Given the description of an element on the screen output the (x, y) to click on. 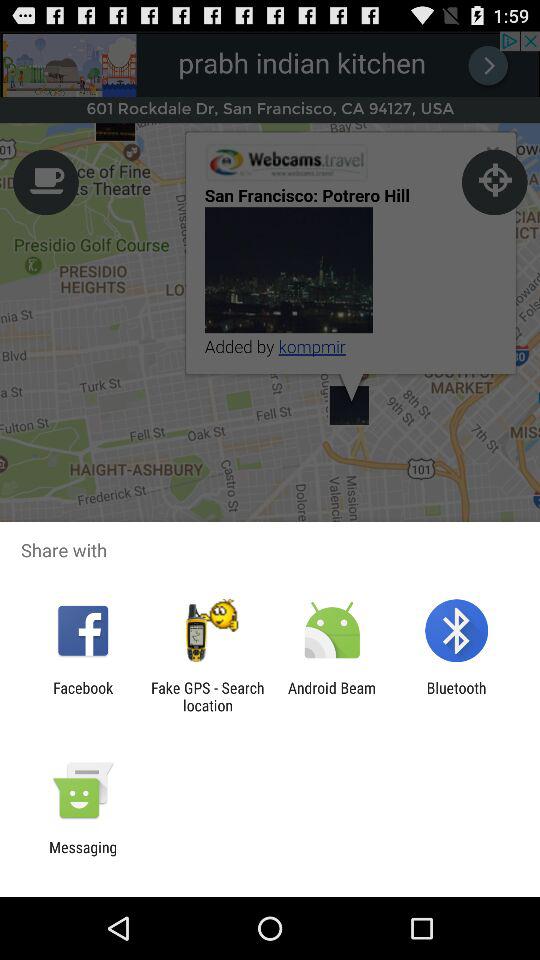
flip to bluetooth (456, 696)
